Given the description of an element on the screen output the (x, y) to click on. 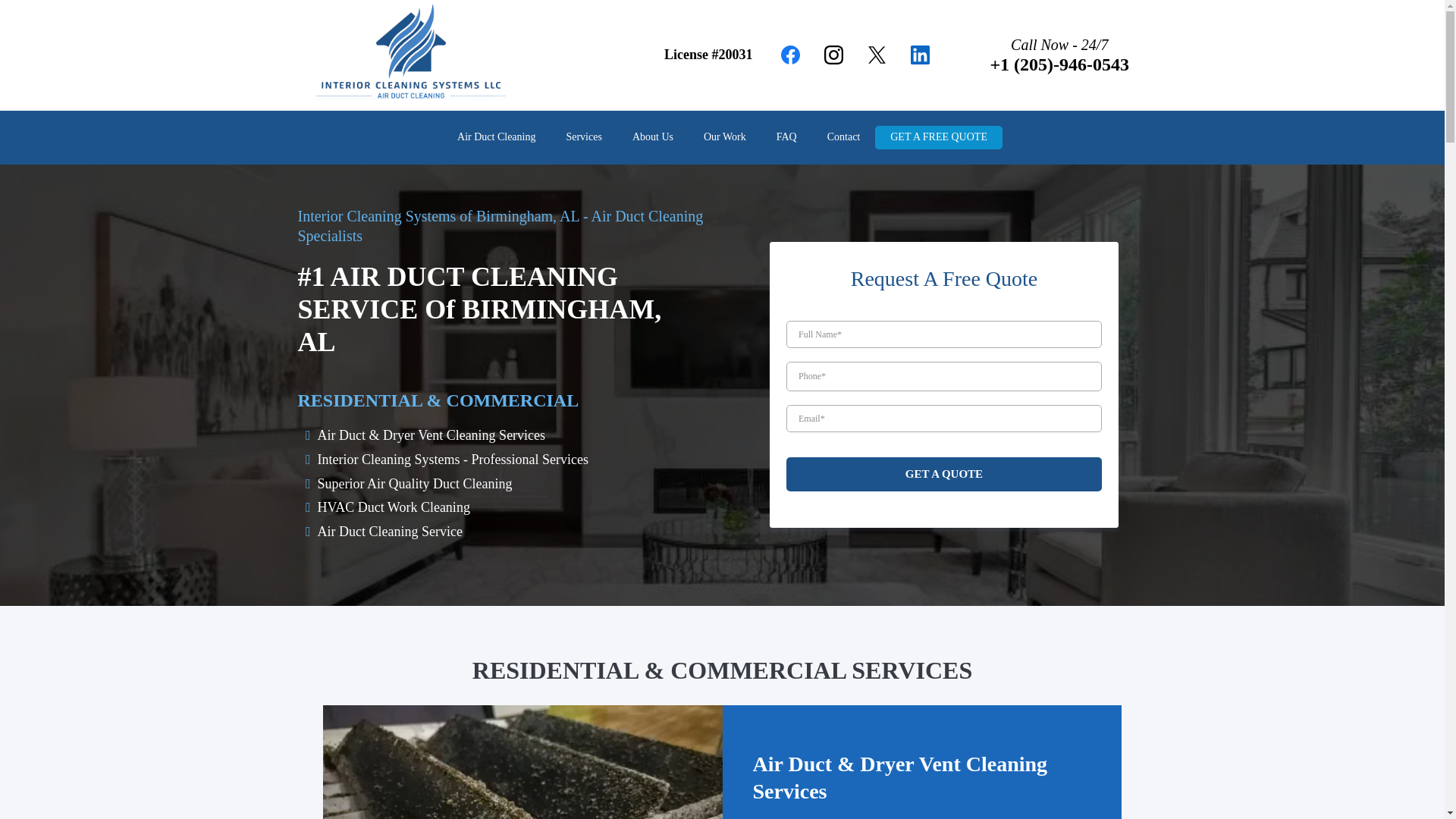
Services (582, 137)
Contact (844, 137)
GET A FREE QUOTE (939, 137)
Our Work (724, 137)
GET A QUOTE (944, 474)
Air Duct Cleaning (496, 137)
FAQ (786, 137)
About Us (652, 137)
